Given the description of an element on the screen output the (x, y) to click on. 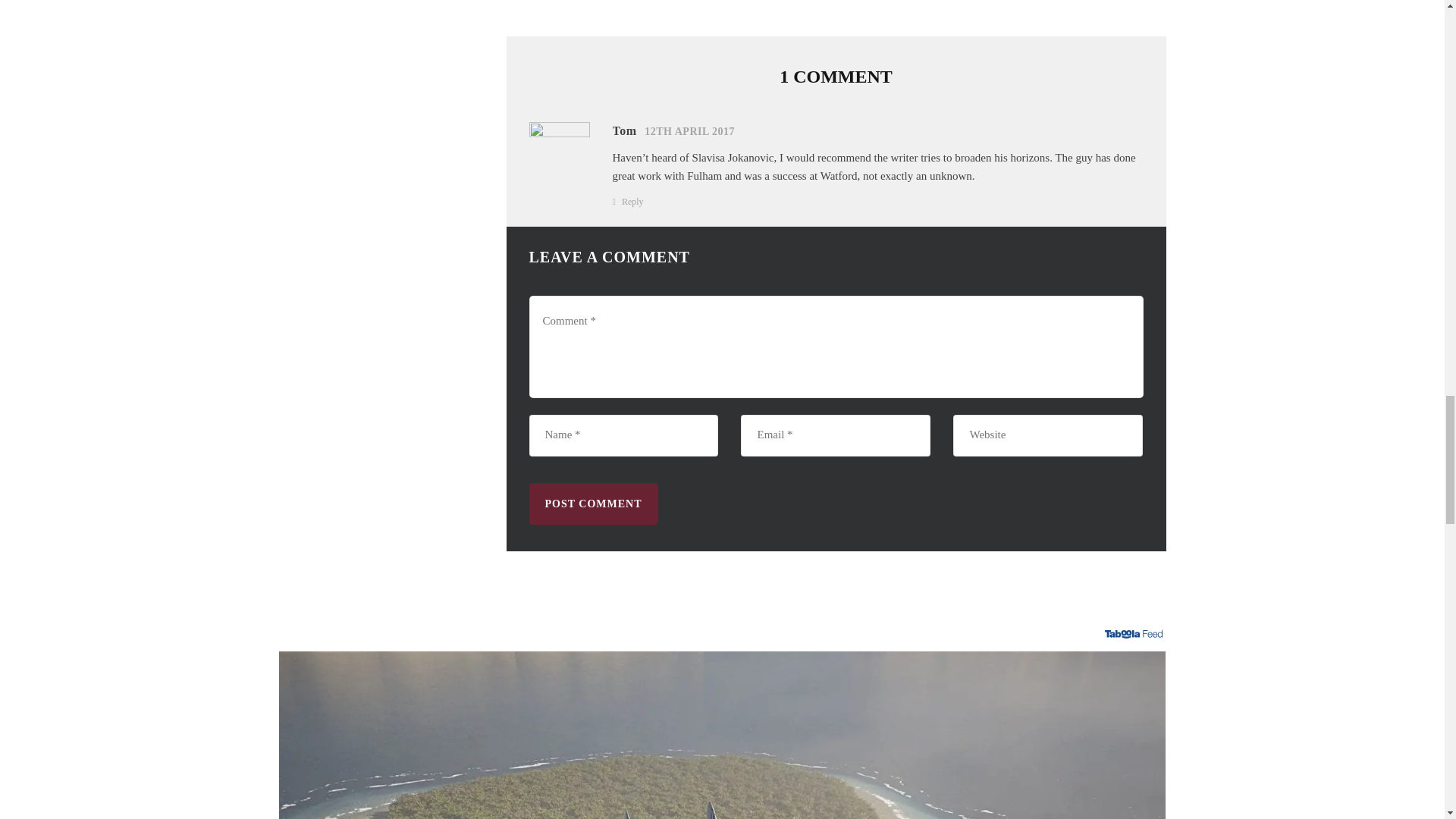
Post Comment (593, 503)
Post Comment (593, 503)
Reply (632, 201)
